Given the description of an element on the screen output the (x, y) to click on. 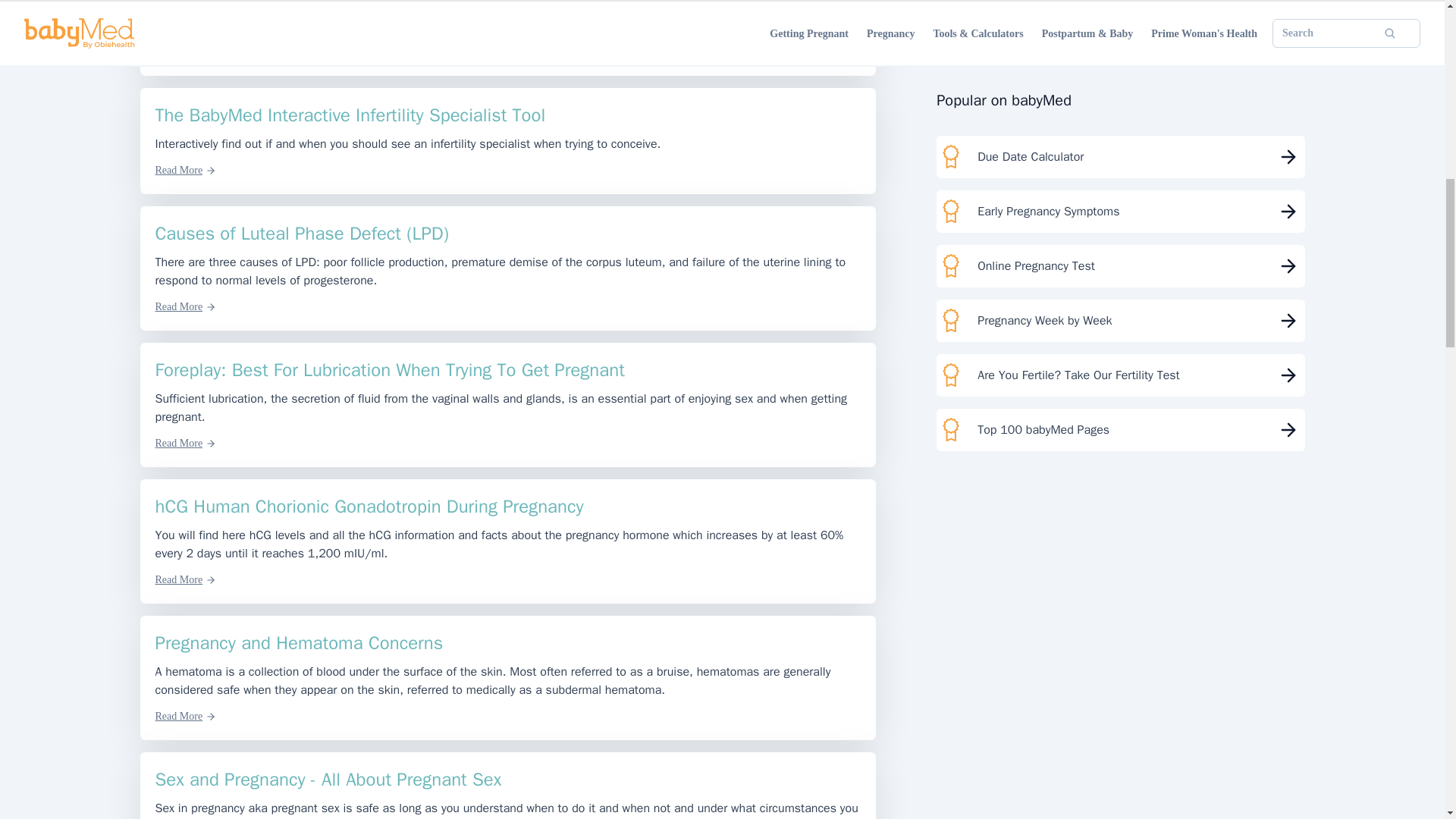
Read More (184, 716)
Read More (184, 306)
Read More (184, 170)
Read More (184, 52)
Read More (184, 580)
Read More (184, 443)
